Given the description of an element on the screen output the (x, y) to click on. 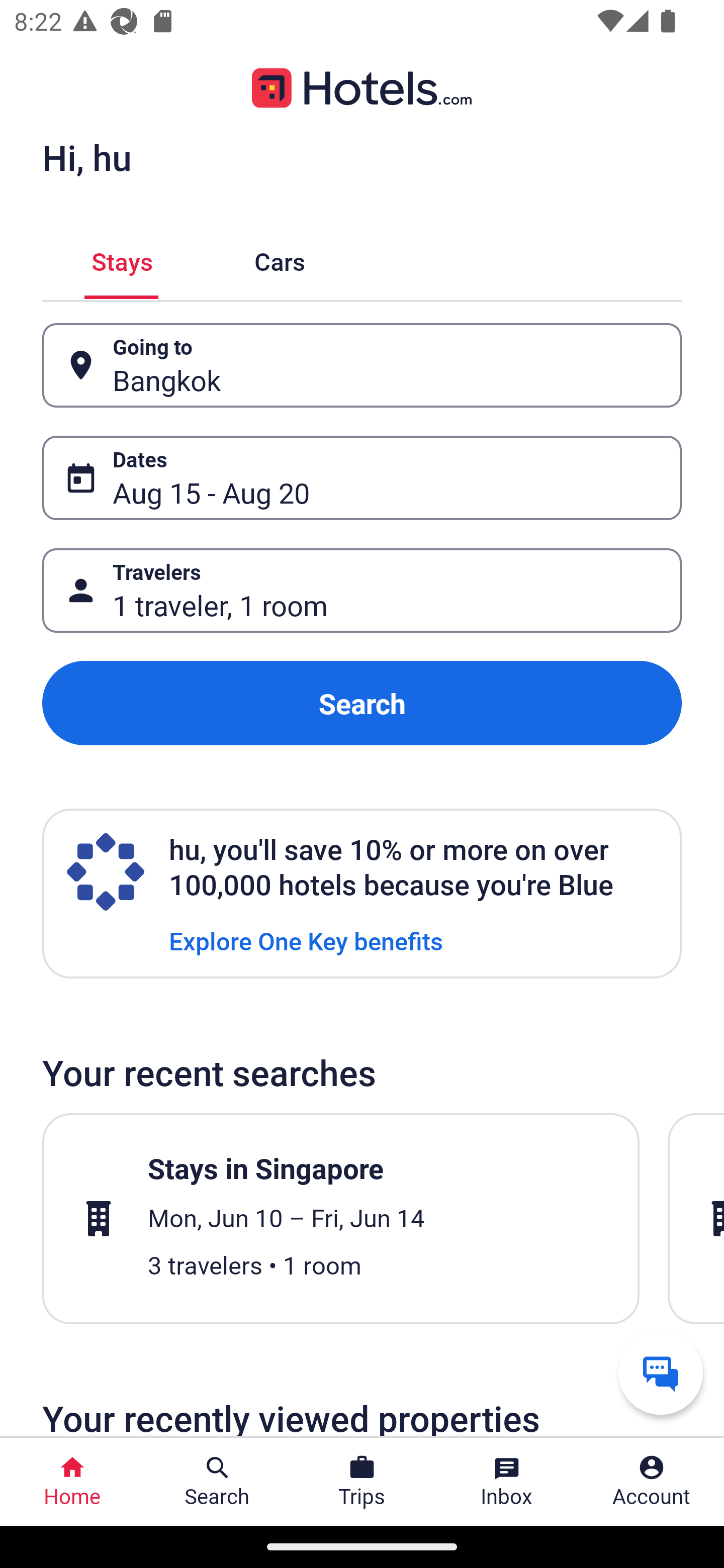
Hi, hu (86, 156)
Cars (279, 259)
Going to Button Bangkok (361, 365)
Dates Button Aug 15 - Aug 20 (361, 477)
Travelers Button 1 traveler, 1 room (361, 590)
Search (361, 702)
Get help from a virtual agent (660, 1371)
Search Search Button (216, 1481)
Trips Trips Button (361, 1481)
Inbox Inbox Button (506, 1481)
Account Profile. Button (651, 1481)
